Given the description of an element on the screen output the (x, y) to click on. 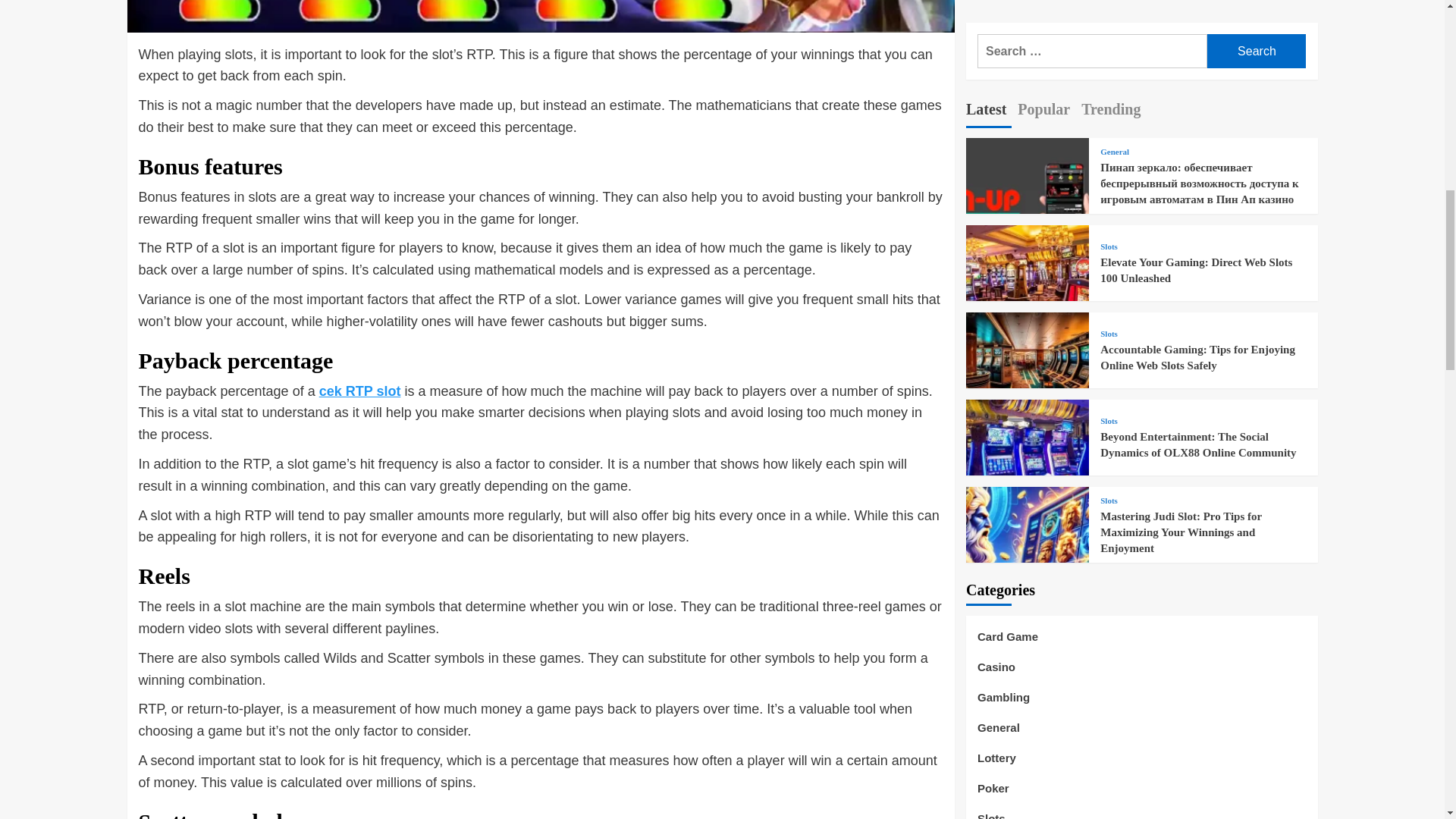
cek RTP slot (359, 391)
